Given the description of an element on the screen output the (x, y) to click on. 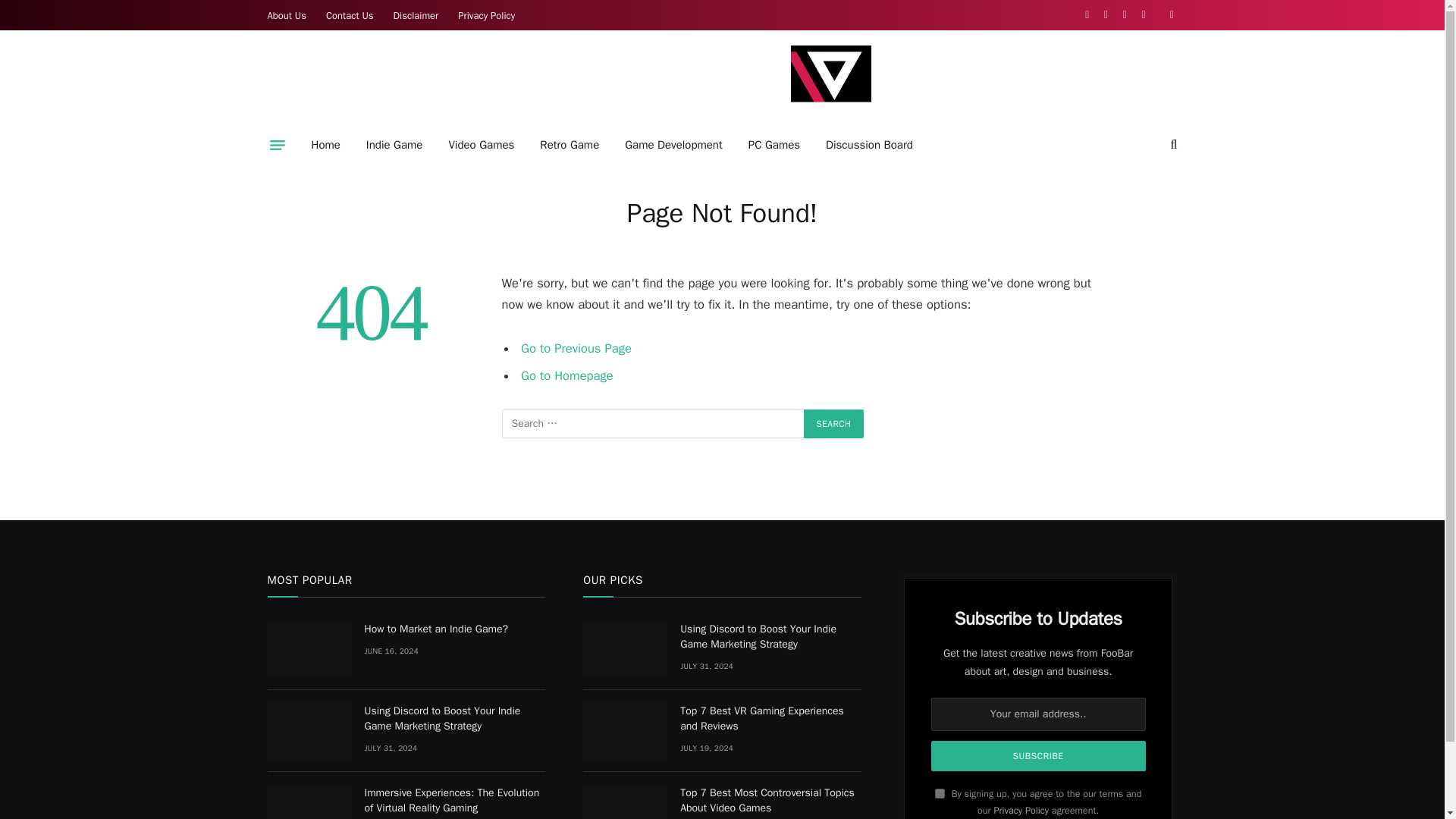
Switch to Dark Design - easier on eyes. (1169, 14)
Subscribe (1038, 756)
on (939, 793)
How to Market an Indie Game? (308, 648)
Video Games (481, 144)
Search (833, 423)
Search (833, 423)
Retro Game (569, 144)
Using Discord to Boost Your Indie Game Marketing Strategy (308, 730)
How to Market an Indie Game? (454, 629)
Discussion Board (869, 144)
Go to Homepage (566, 374)
Search (833, 423)
About Us (286, 15)
